Given the description of an element on the screen output the (x, y) to click on. 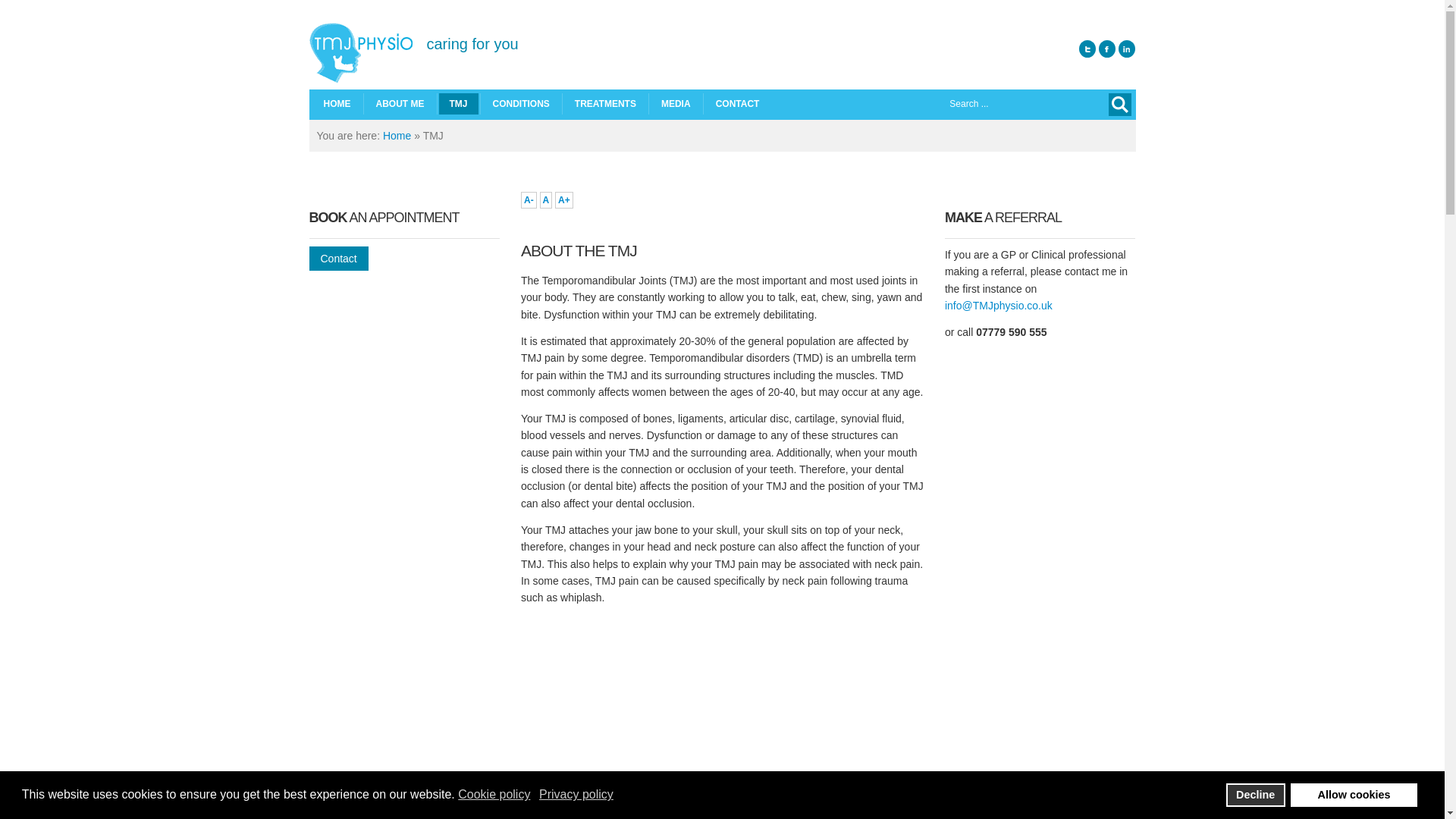
JoomlaWorks AllVideos Player (721, 717)
Home (396, 135)
Linkedin (1126, 48)
Search (1119, 104)
ABOUT ME (400, 103)
Facebook (1107, 48)
HOME (337, 103)
Privacy policy (576, 794)
Search (1119, 104)
Cookie policy (495, 794)
Search ... (988, 103)
CONDITIONS (520, 103)
TMJ (457, 103)
Contact (338, 258)
Allow cookies (1353, 794)
